Given the description of an element on the screen output the (x, y) to click on. 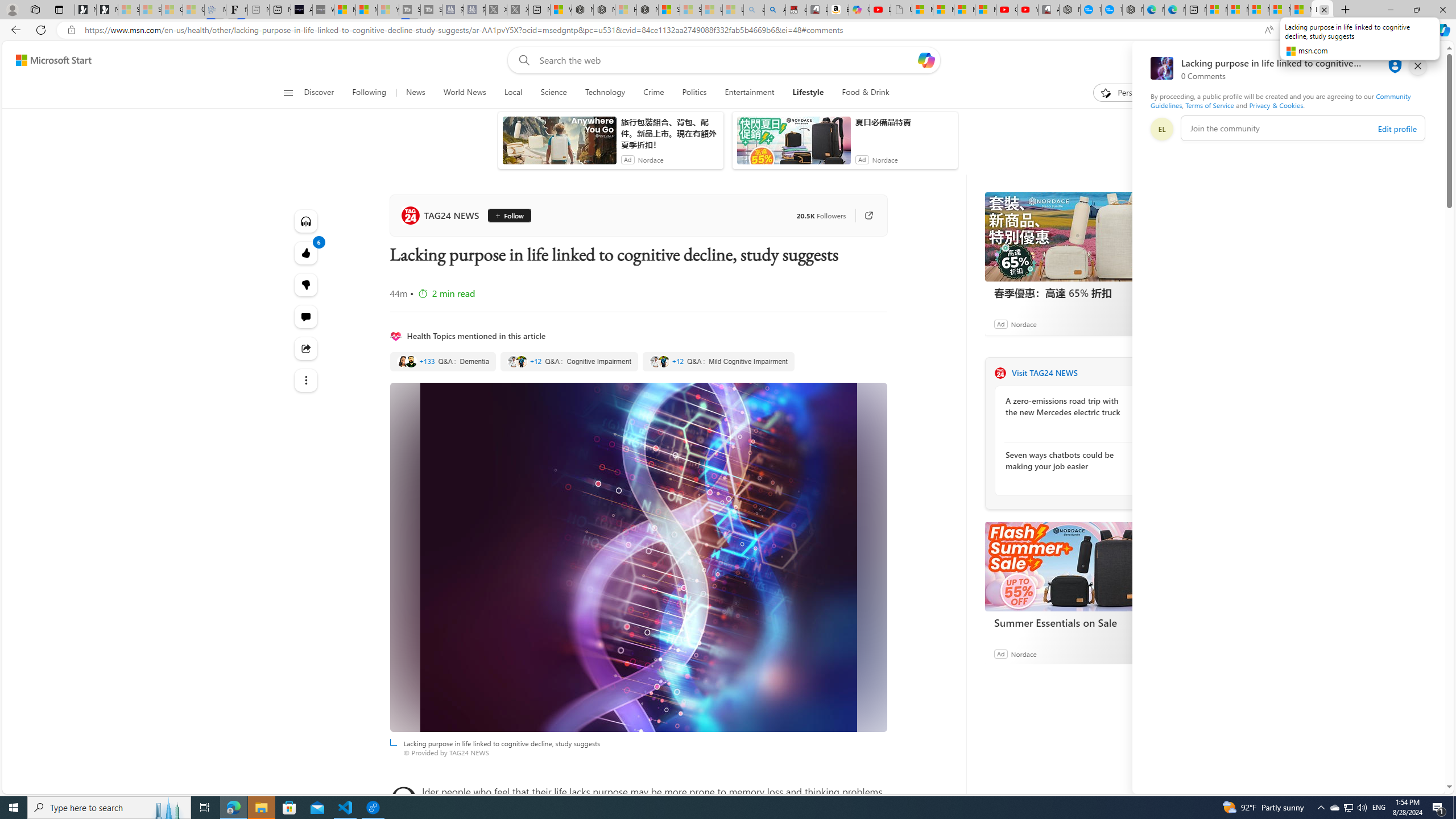
Food & Drink (860, 92)
Politics (694, 92)
More like this6Fewer like thisStart the conversation (305, 284)
Mild cognitive impairment (718, 361)
anim-content (793, 144)
Untitled (901, 9)
Visit TAG24 NEWS website (1140, 372)
